Given the description of an element on the screen output the (x, y) to click on. 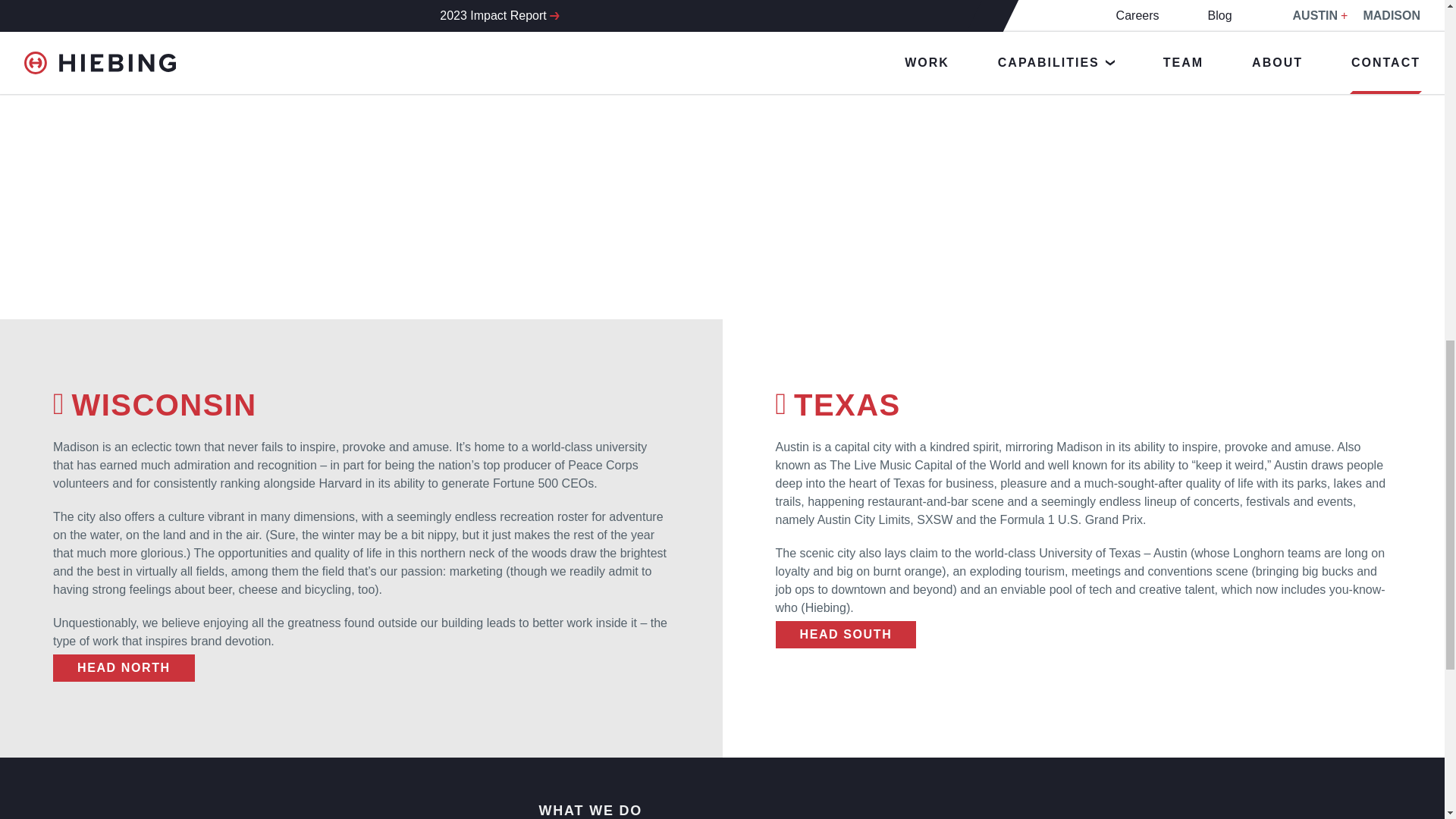
HEAD SOUTH (844, 634)
HEAD NORTH (123, 667)
